Given the description of an element on the screen output the (x, y) to click on. 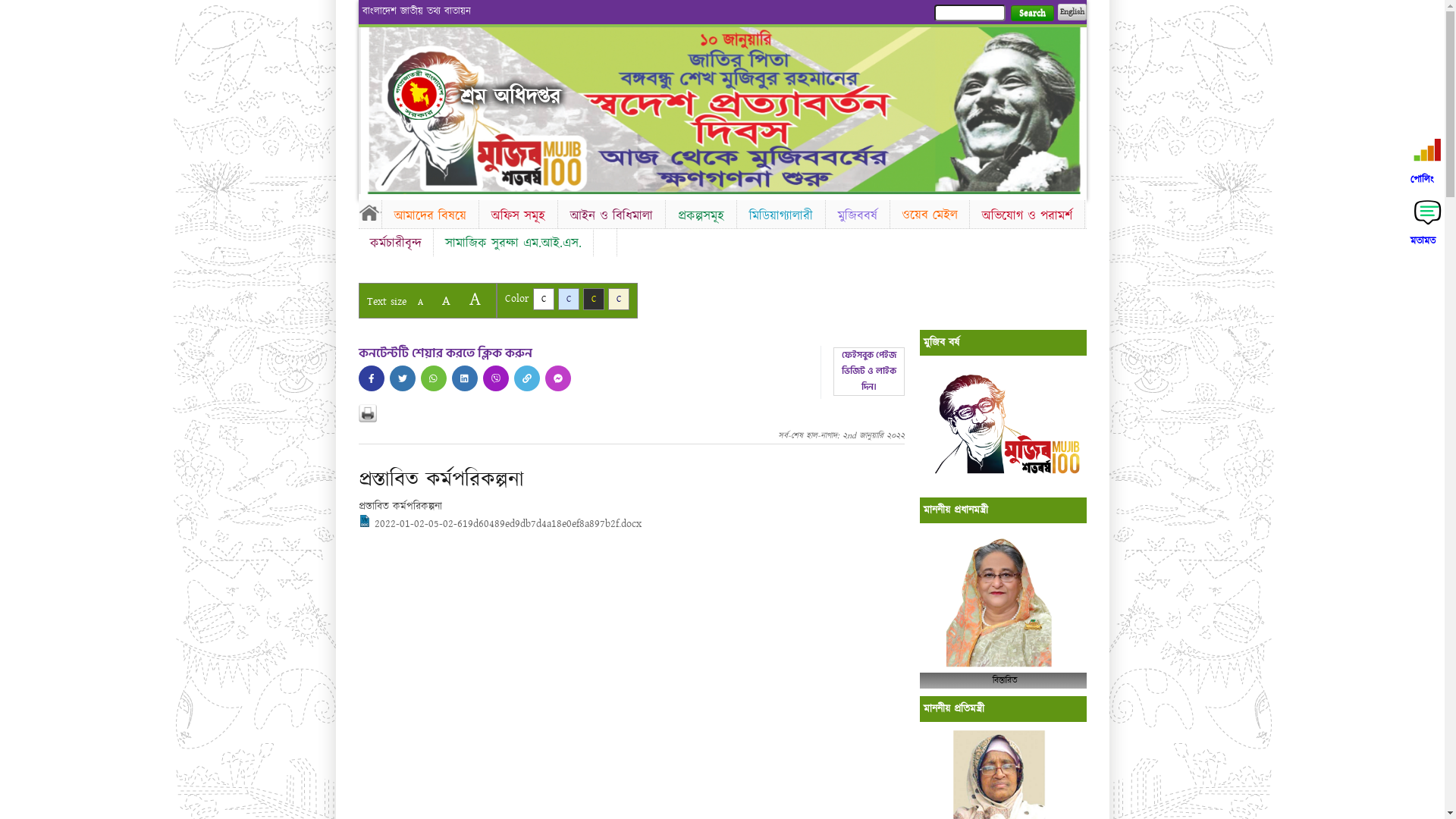
C Element type: text (592, 299)
Home Element type: hover (368, 211)
C Element type: text (568, 299)
Home Element type: hover (418, 93)
A Element type: text (474, 298)
A Element type: text (419, 301)
A Element type: text (445, 300)
C Element type: text (618, 299)
Search Element type: text (1031, 13)
English Element type: text (1071, 11)
C Element type: text (542, 299)
2022-01-02-05-02-619d60489ed9db7d4a18e0ef8a897b2f.docx Element type: text (498, 523)
